Given the description of an element on the screen output the (x, y) to click on. 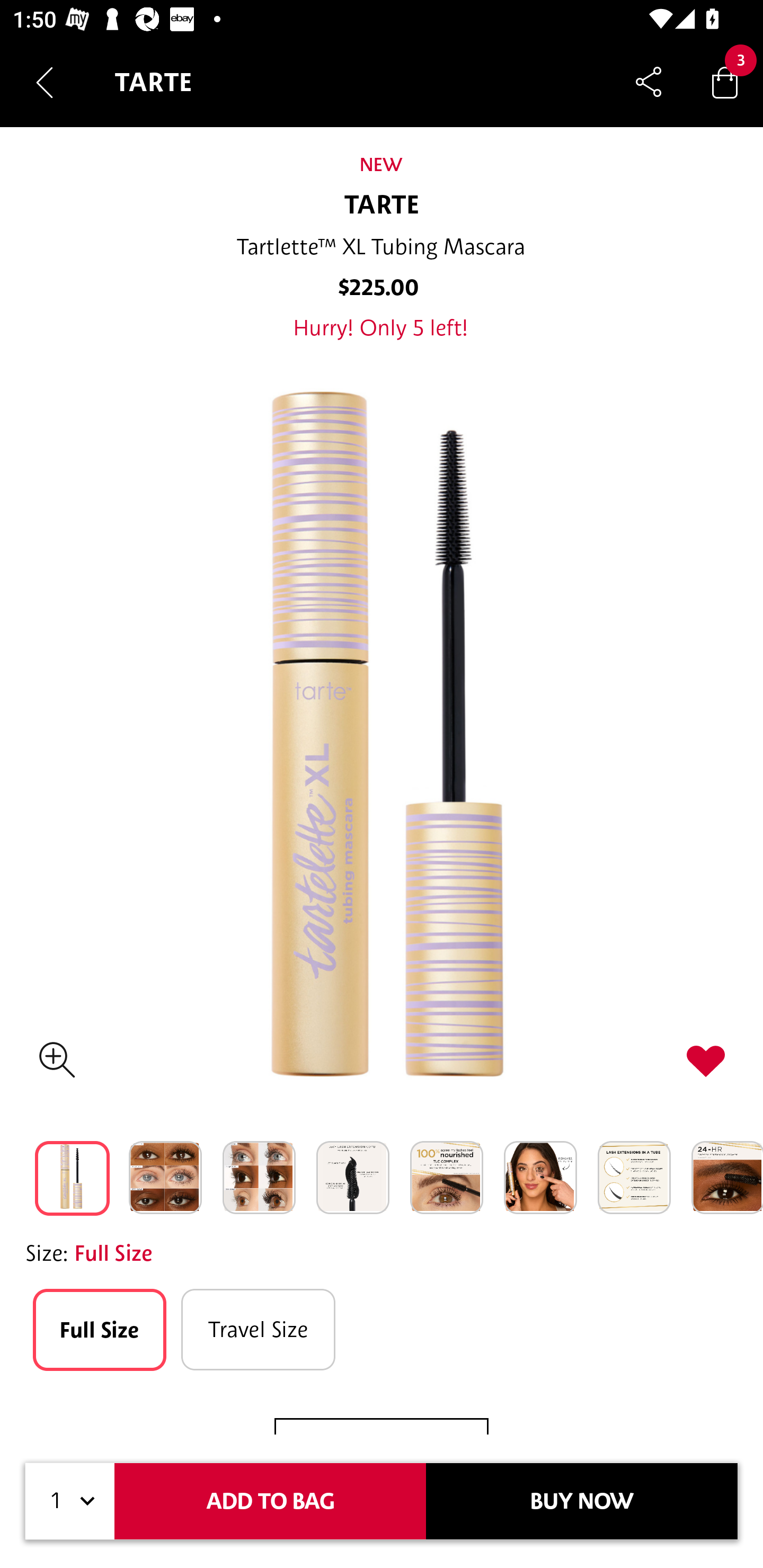
Navigate up (44, 82)
Share (648, 81)
Bag (724, 81)
TARTE (381, 205)
Full Size (99, 1329)
Travel Size (258, 1329)
1 (69, 1500)
ADD TO BAG (269, 1500)
BUY NOW (581, 1500)
